Given the description of an element on the screen output the (x, y) to click on. 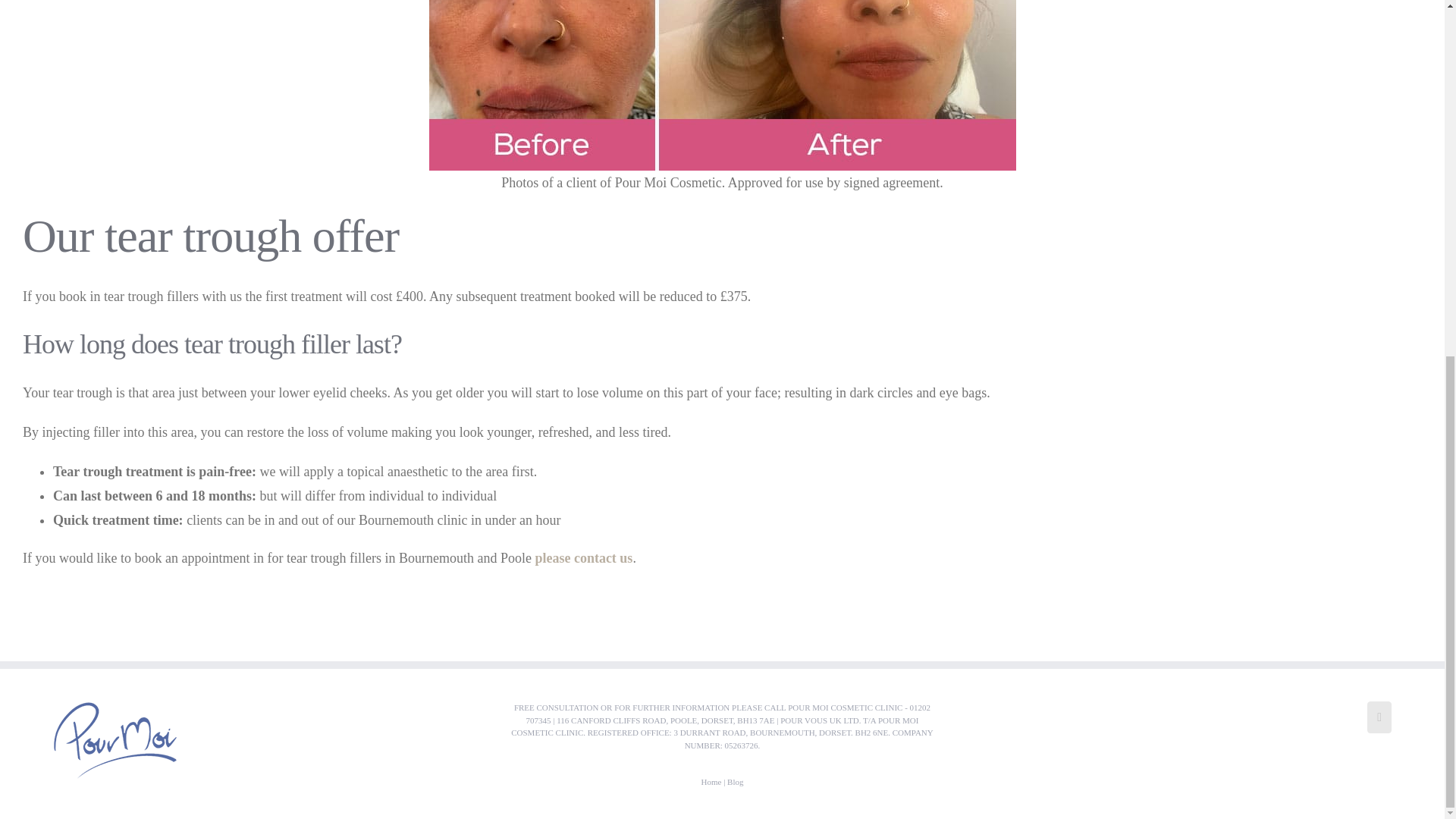
Blog (734, 781)
please contact us (582, 557)
Home (710, 781)
